Given the description of an element on the screen output the (x, y) to click on. 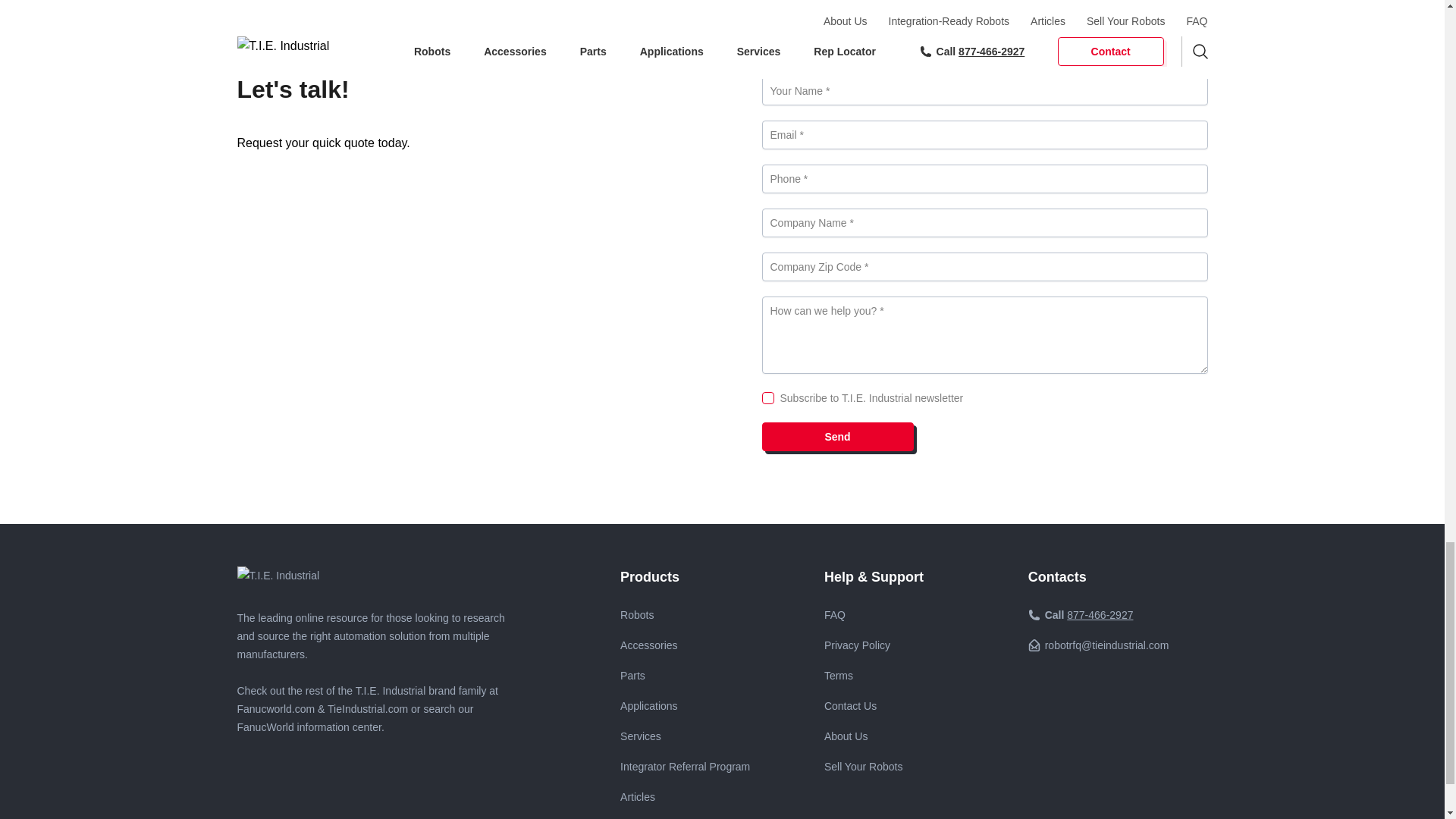
Yes (767, 398)
